Given the description of an element on the screen output the (x, y) to click on. 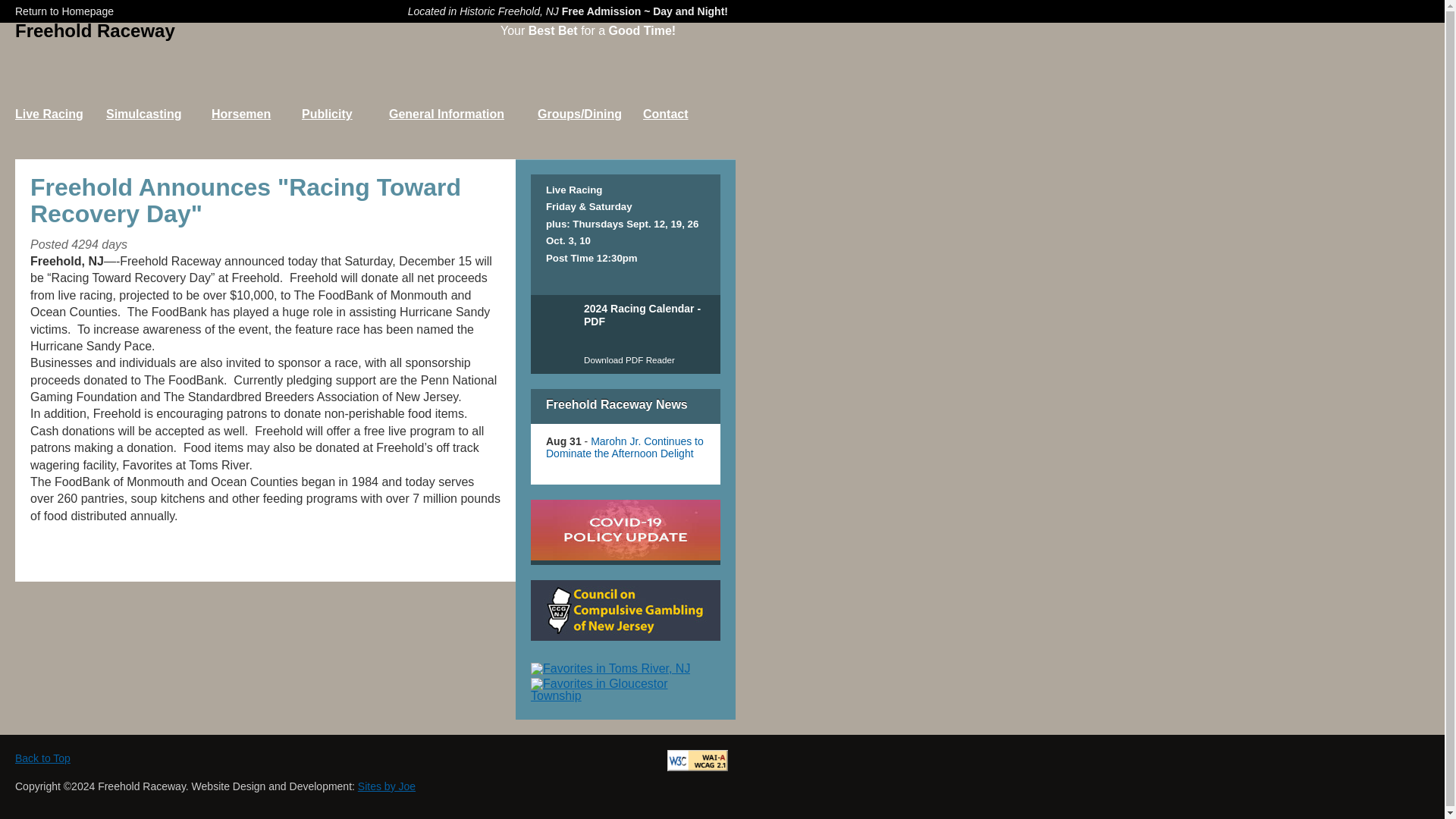
Live Racing (60, 128)
Return to Homepage (63, 10)
General Information (462, 128)
Get PDF Reader (629, 372)
Simulcasting (158, 128)
Horsemen (256, 128)
Publicity (344, 128)
